Given the description of an element on the screen output the (x, y) to click on. 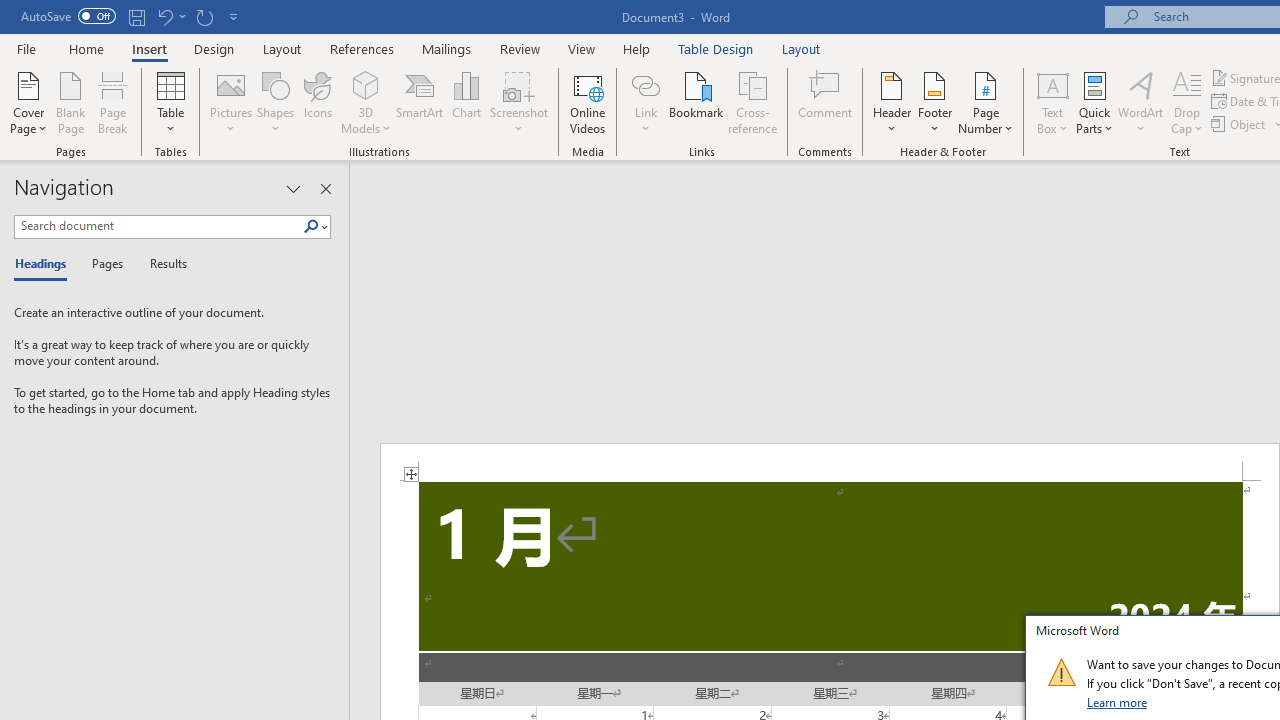
Search document (157, 226)
Learn more (1118, 702)
Page Number (986, 102)
Shapes (275, 102)
Online Videos... (588, 102)
Header (891, 102)
Blank Page (70, 102)
Page Break (113, 102)
Object... (1240, 124)
Header -Section 1- (830, 461)
Chart... (466, 102)
